Given the description of an element on the screen output the (x, y) to click on. 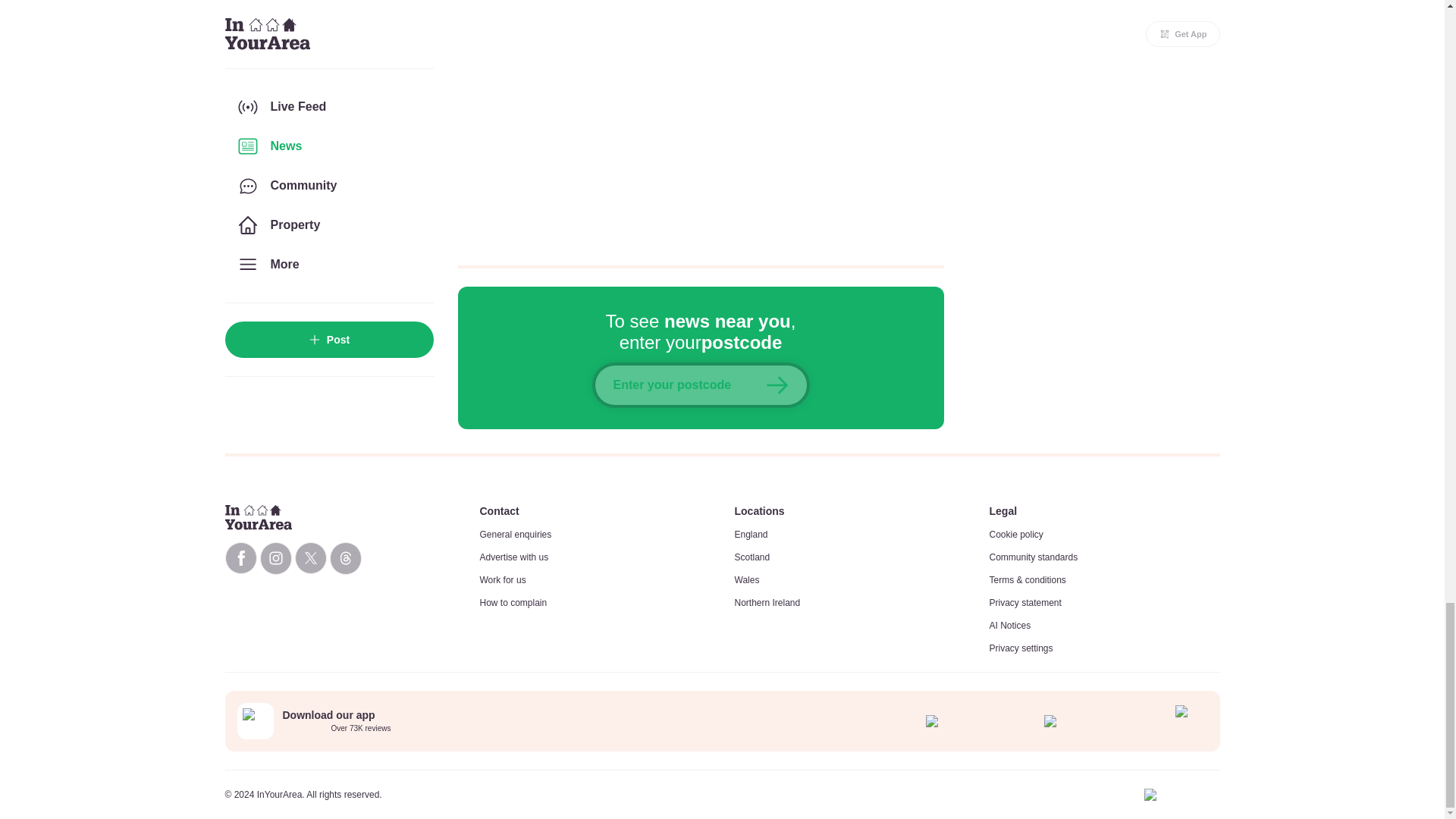
InYourArea Threads (345, 558)
InYourArea Instagram (275, 558)
InYourArea X (310, 558)
comments (701, 122)
InYourArea Facebook (240, 558)
